Given the description of an element on the screen output the (x, y) to click on. 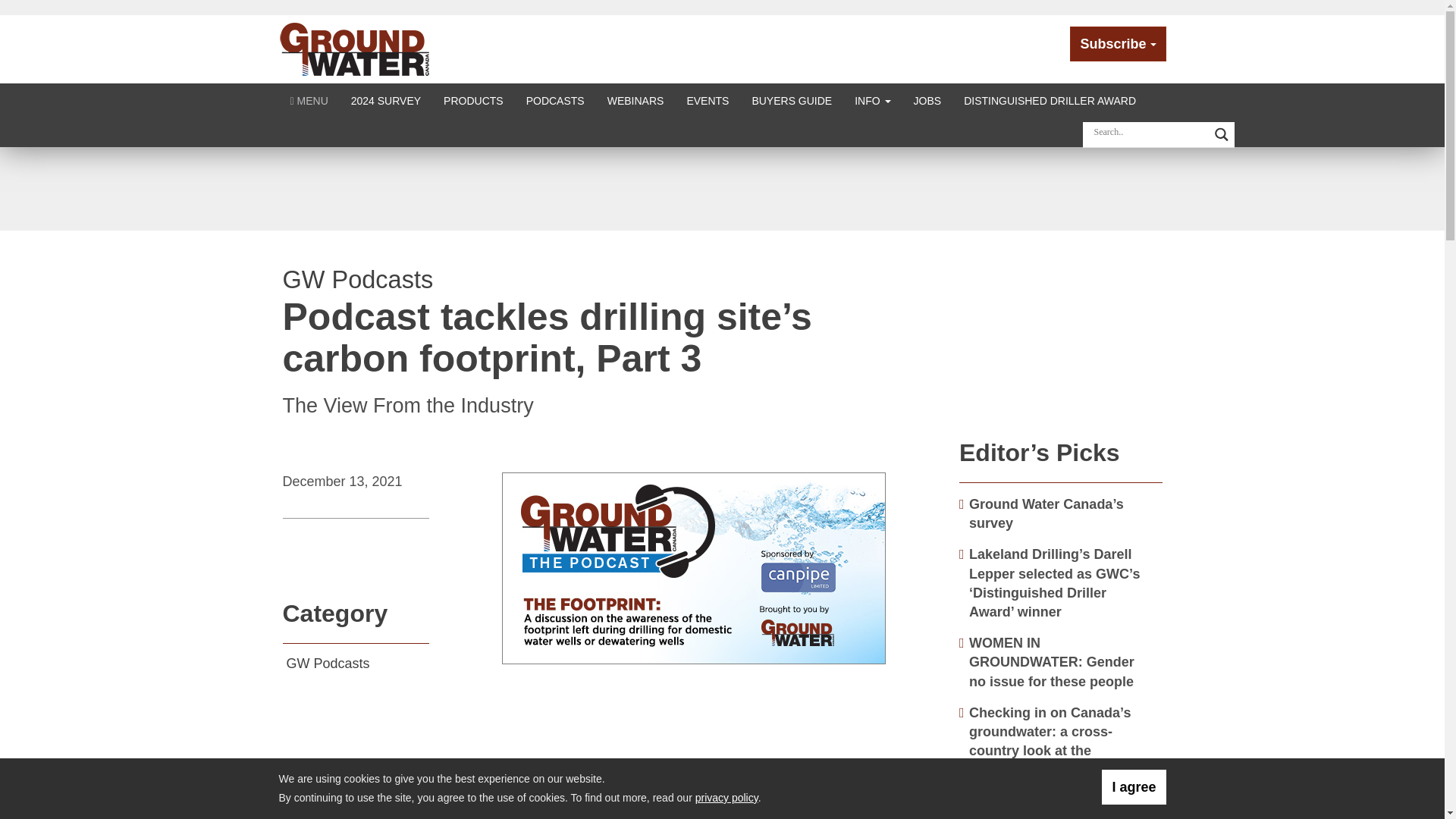
DISTINGUISHED DRILLER AWARD (1049, 100)
Subscribe (1118, 43)
PRODUCTS (473, 100)
3rd party ad content (1060, 328)
WEBINARS (635, 100)
MENU (309, 100)
BUYERS GUIDE (791, 100)
INFO (872, 100)
Ground Water Canada (354, 48)
PODCASTS (555, 100)
JOBS (927, 100)
Click to show site navigation (309, 100)
2024 SURVEY (385, 100)
EVENTS (707, 100)
3rd party ad content (721, 188)
